Given the description of an element on the screen output the (x, y) to click on. 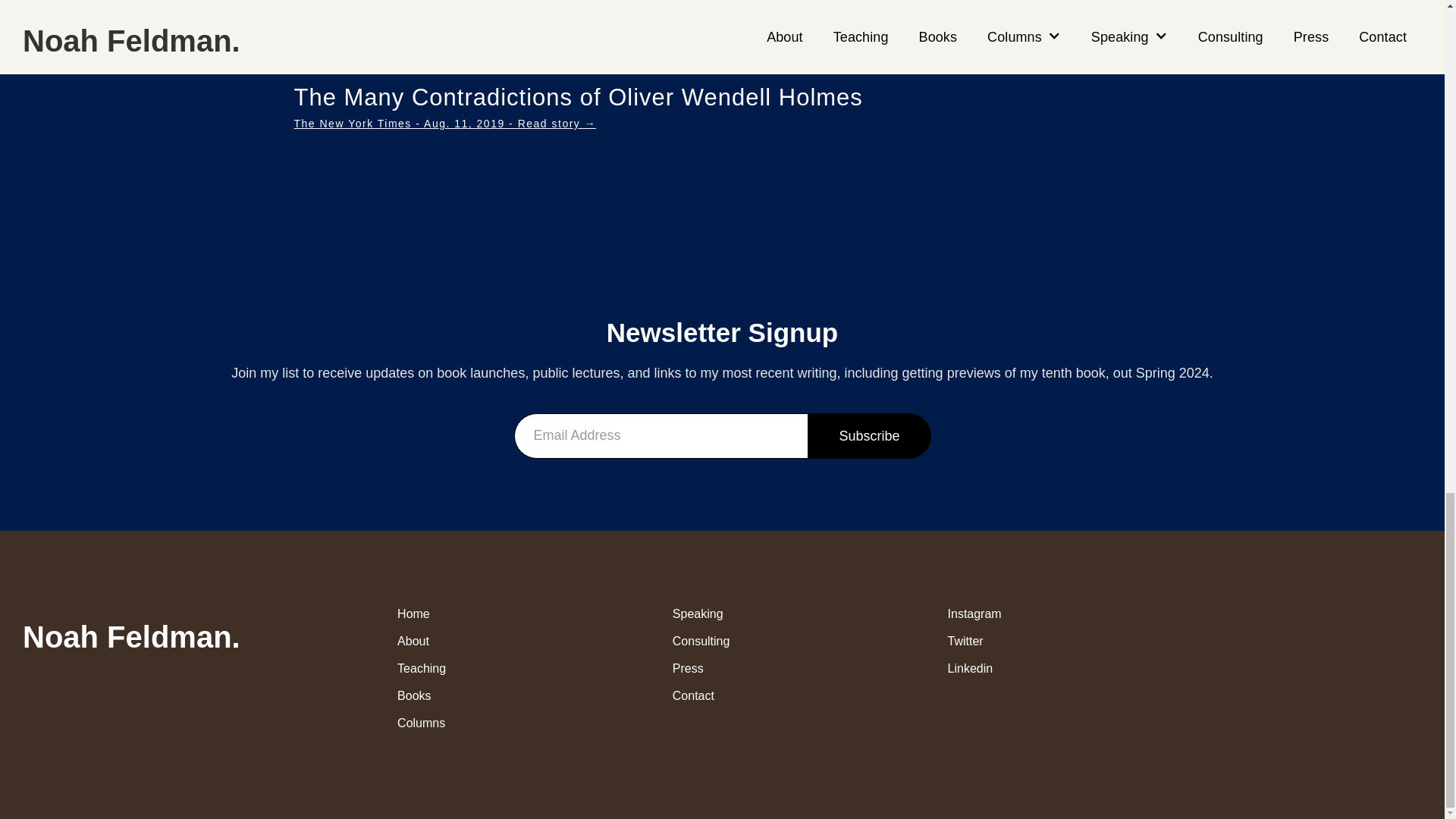
Press (772, 667)
Linkedin (1047, 667)
Subscribe (869, 435)
Speaking (772, 613)
Consulting (772, 640)
Contact (772, 694)
Instagram (1047, 613)
Noah Feldman. (131, 632)
Teaching (496, 667)
Home (496, 613)
